Given the description of an element on the screen output the (x, y) to click on. 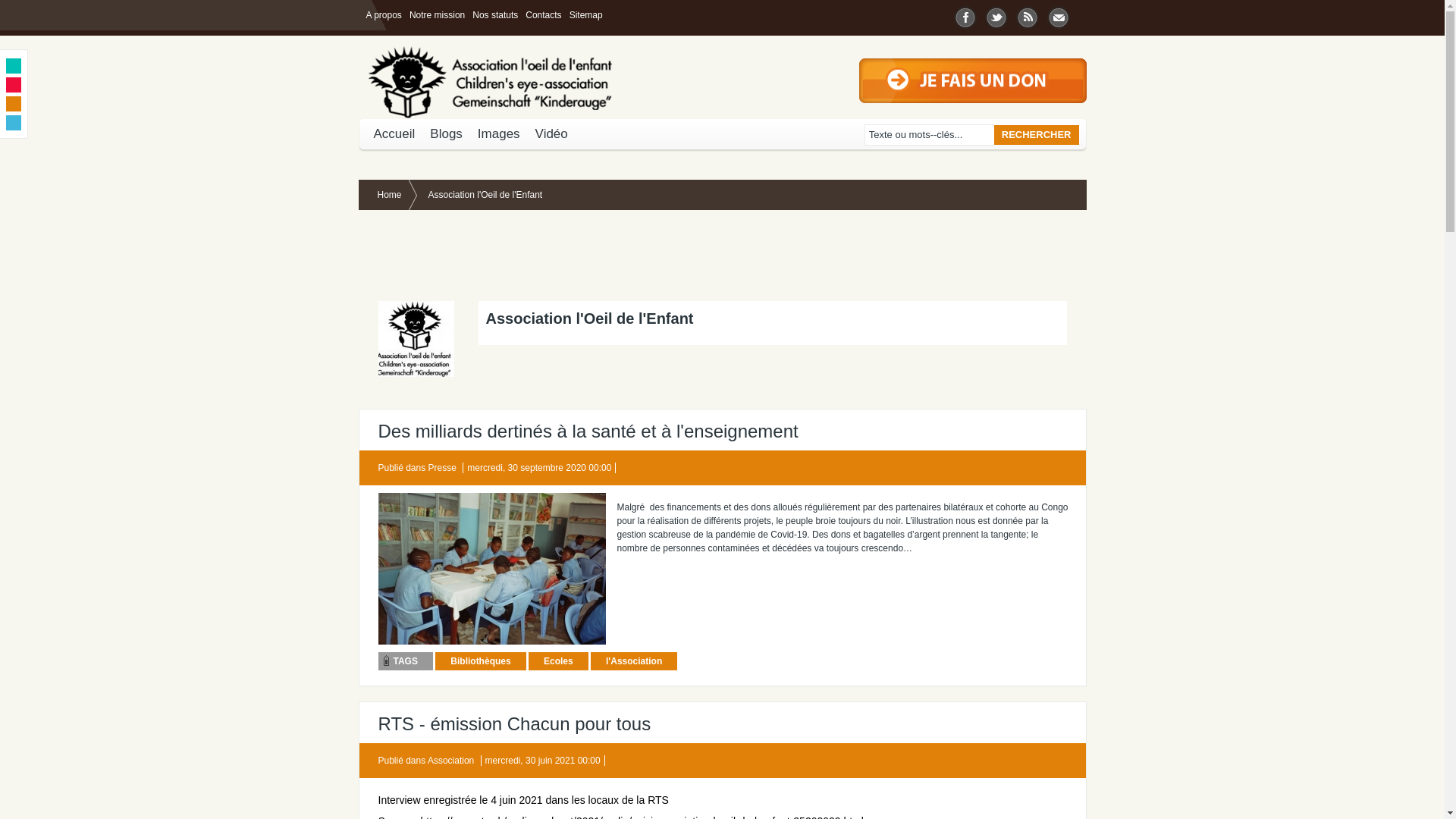
Notre mission Element type: text (436, 14)
A propos Element type: text (383, 14)
Sitemap Element type: text (585, 14)
Images Element type: text (498, 134)
RSS Element type: hover (1027, 14)
E-mail Element type: hover (1058, 14)
Twitter Element type: hover (995, 14)
Contacts Element type: text (543, 14)
Association Element type: text (450, 760)
l'Association Element type: text (633, 661)
Advertisement Element type: hover (542, 255)
Home Element type: text (397, 194)
Rechercher Element type: text (1036, 134)
Blogs Element type: text (446, 134)
Facebook Element type: hover (965, 14)
Je fais un don Element type: hover (971, 64)
Ecoles Element type: text (558, 661)
Presse Element type: text (442, 467)
Nos statuts Element type: text (494, 14)
Accueil Element type: text (393, 134)
